Given the description of an element on the screen output the (x, y) to click on. 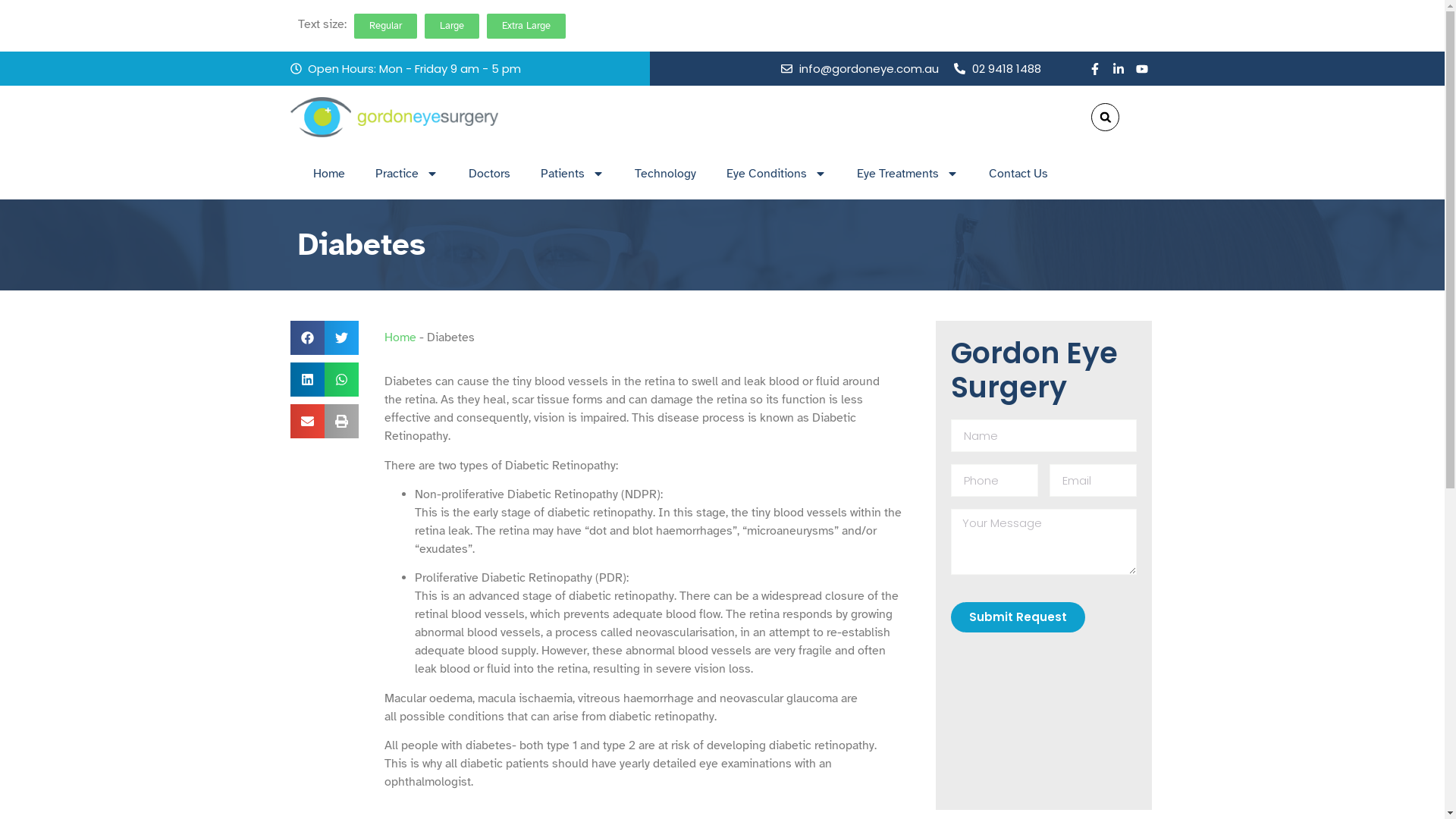
Large Element type: text (451, 25)
Technology Element type: text (664, 173)
Extra Large Element type: text (525, 25)
Patients Element type: text (571, 173)
Eye Treatments Element type: text (907, 173)
Home Element type: text (328, 173)
Doctors Element type: text (489, 173)
Home Element type: text (399, 337)
Regular Element type: text (384, 25)
Submit Request Element type: text (1017, 617)
Eye Conditions Element type: text (776, 173)
Practice Element type: text (405, 173)
Contact Us Element type: text (1018, 173)
